Given the description of an element on the screen output the (x, y) to click on. 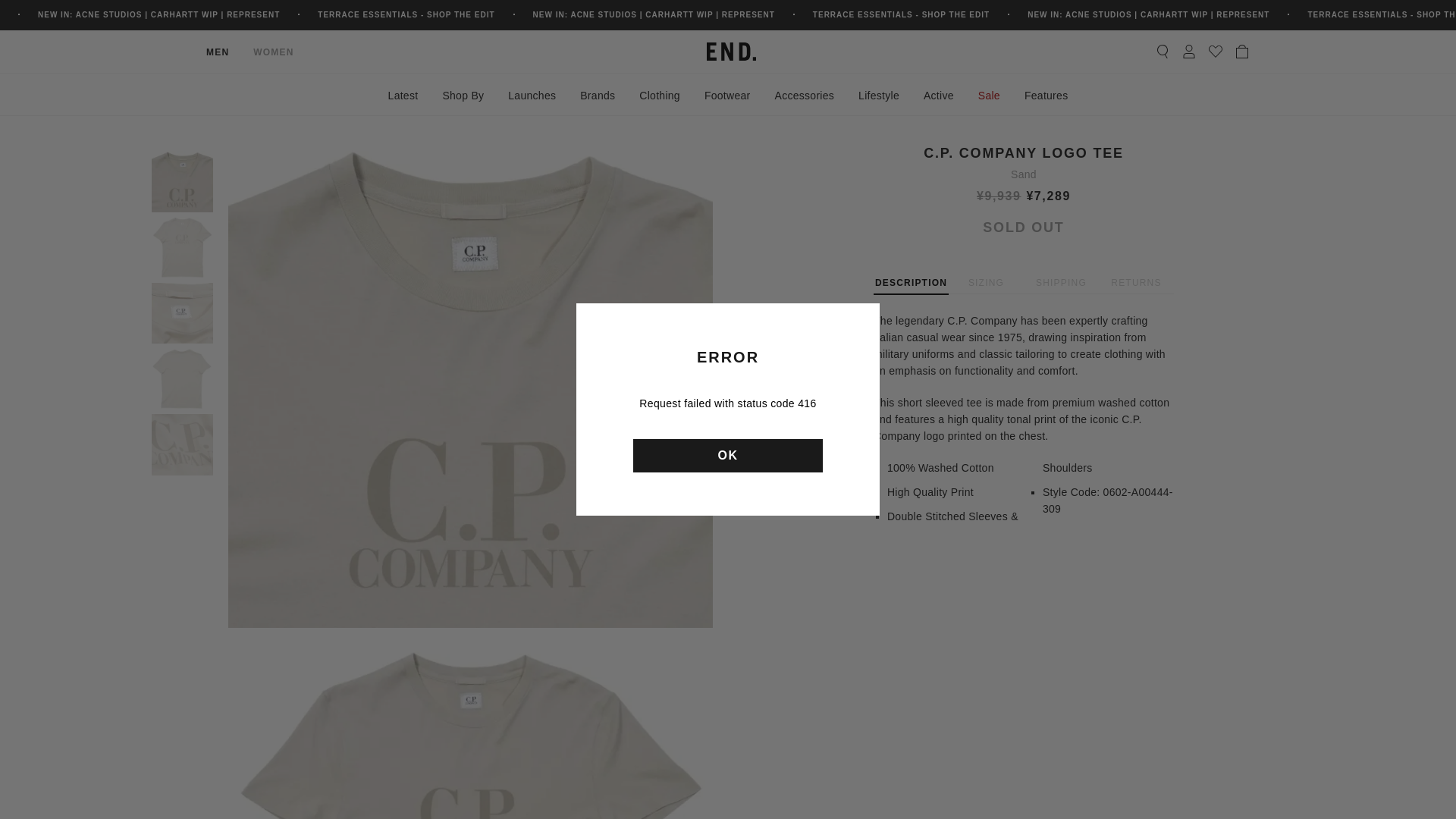
TERRACE ESSENTIALS - SHOP THE EDIT (901, 14)
WOMEN (273, 51)
MEN (217, 51)
TERRACE ESSENTIALS - SHOP THE EDIT (406, 14)
